Given the description of an element on the screen output the (x, y) to click on. 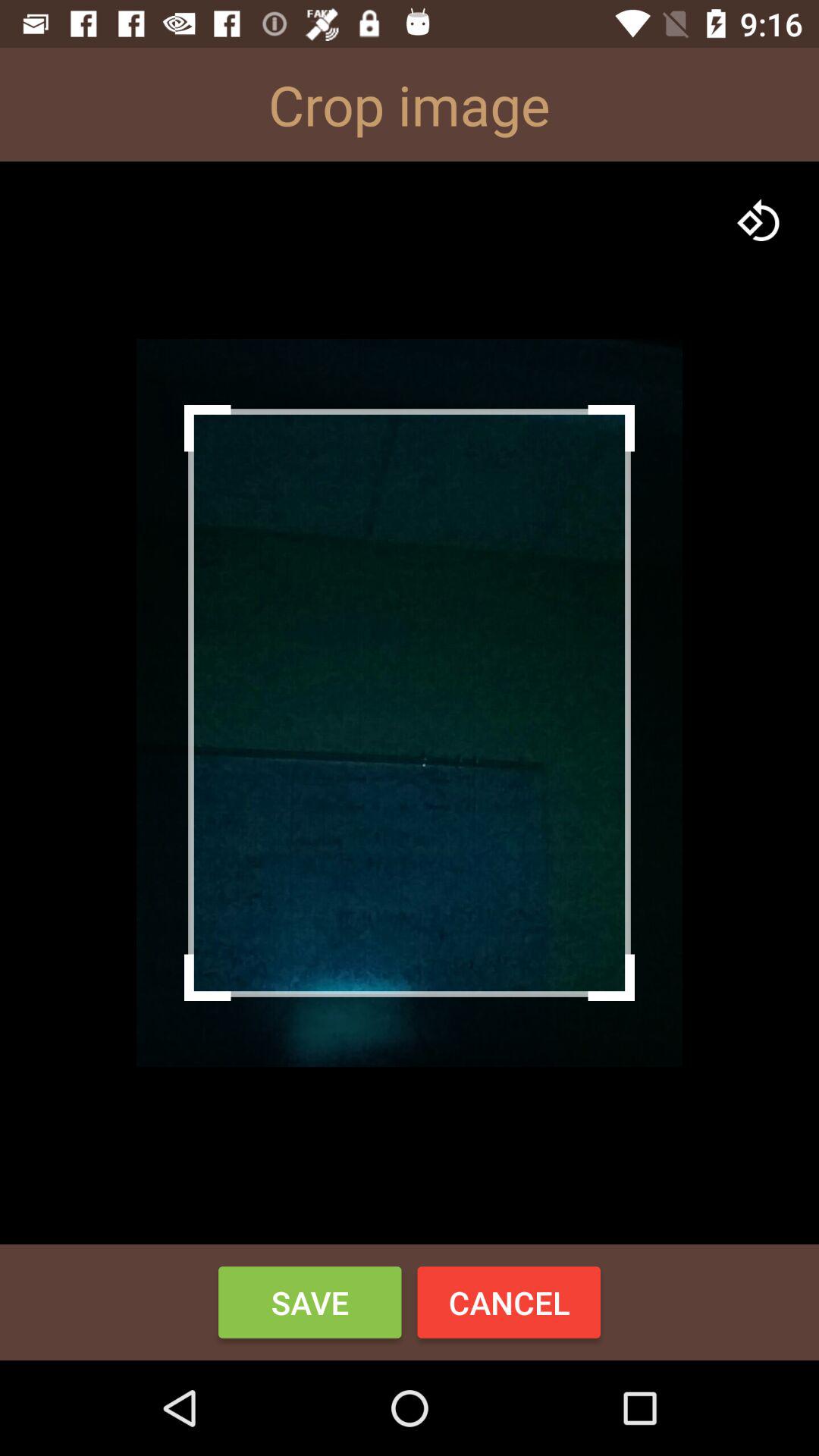
choose save item (309, 1302)
